Given the description of an element on the screen output the (x, y) to click on. 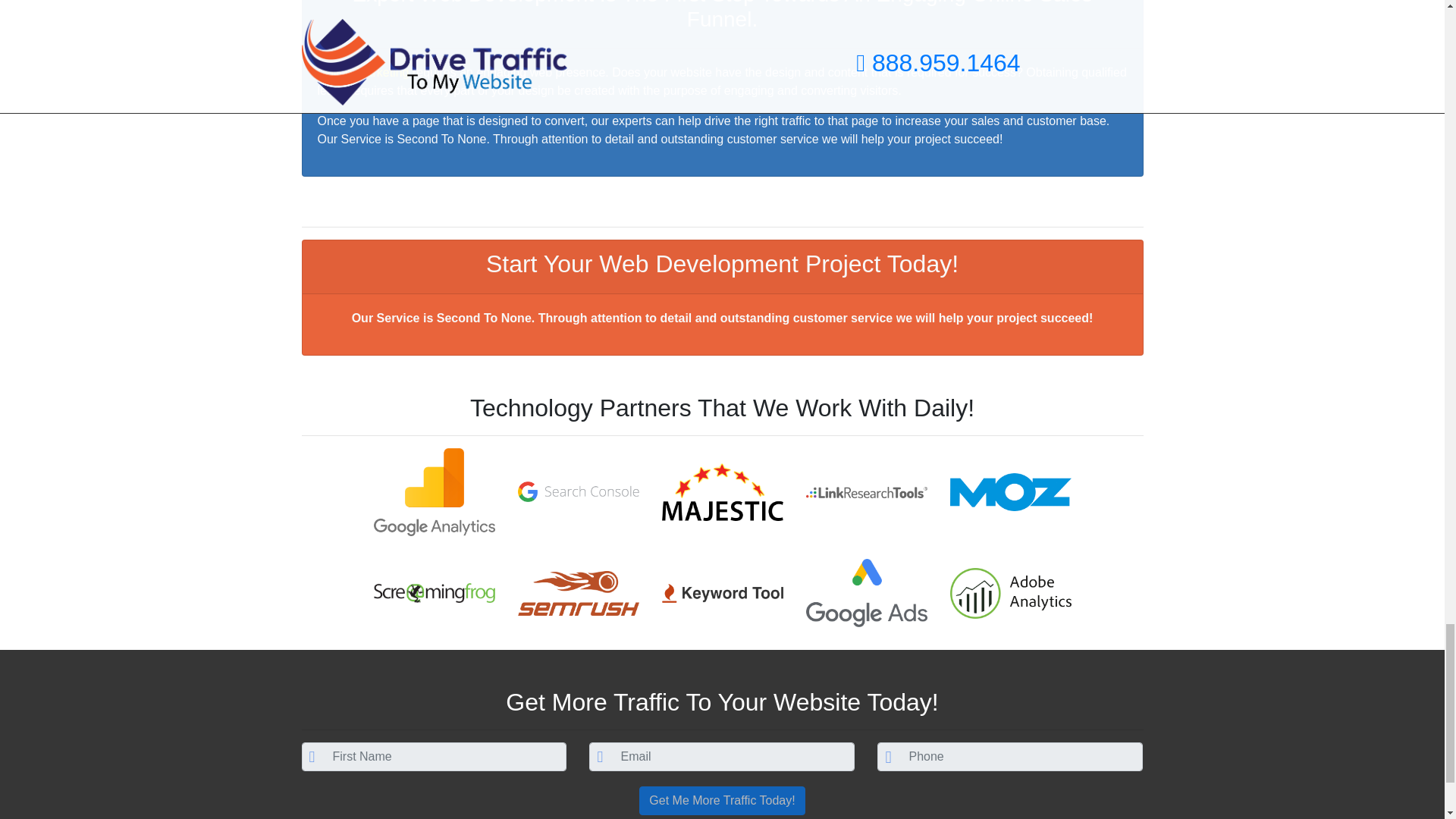
Online Marketing (363, 72)
Get Me More Traffic Today! (722, 800)
Get Me More Traffic Today! (722, 800)
